Given the description of an element on the screen output the (x, y) to click on. 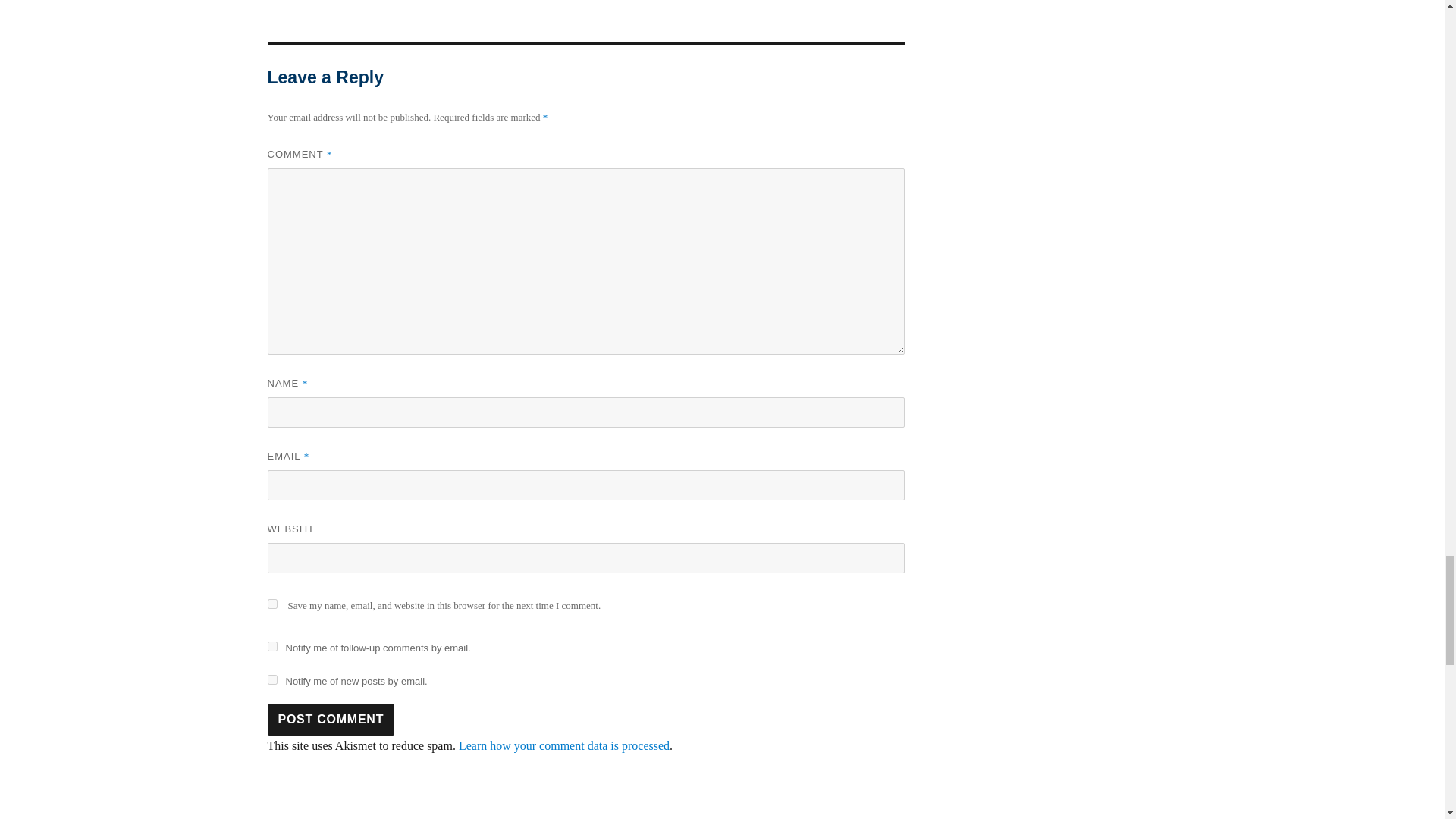
subscribe (271, 679)
Post Comment (330, 719)
subscribe (271, 646)
Learn how your comment data is processed (563, 745)
Post Comment (330, 719)
yes (271, 603)
